Given the description of an element on the screen output the (x, y) to click on. 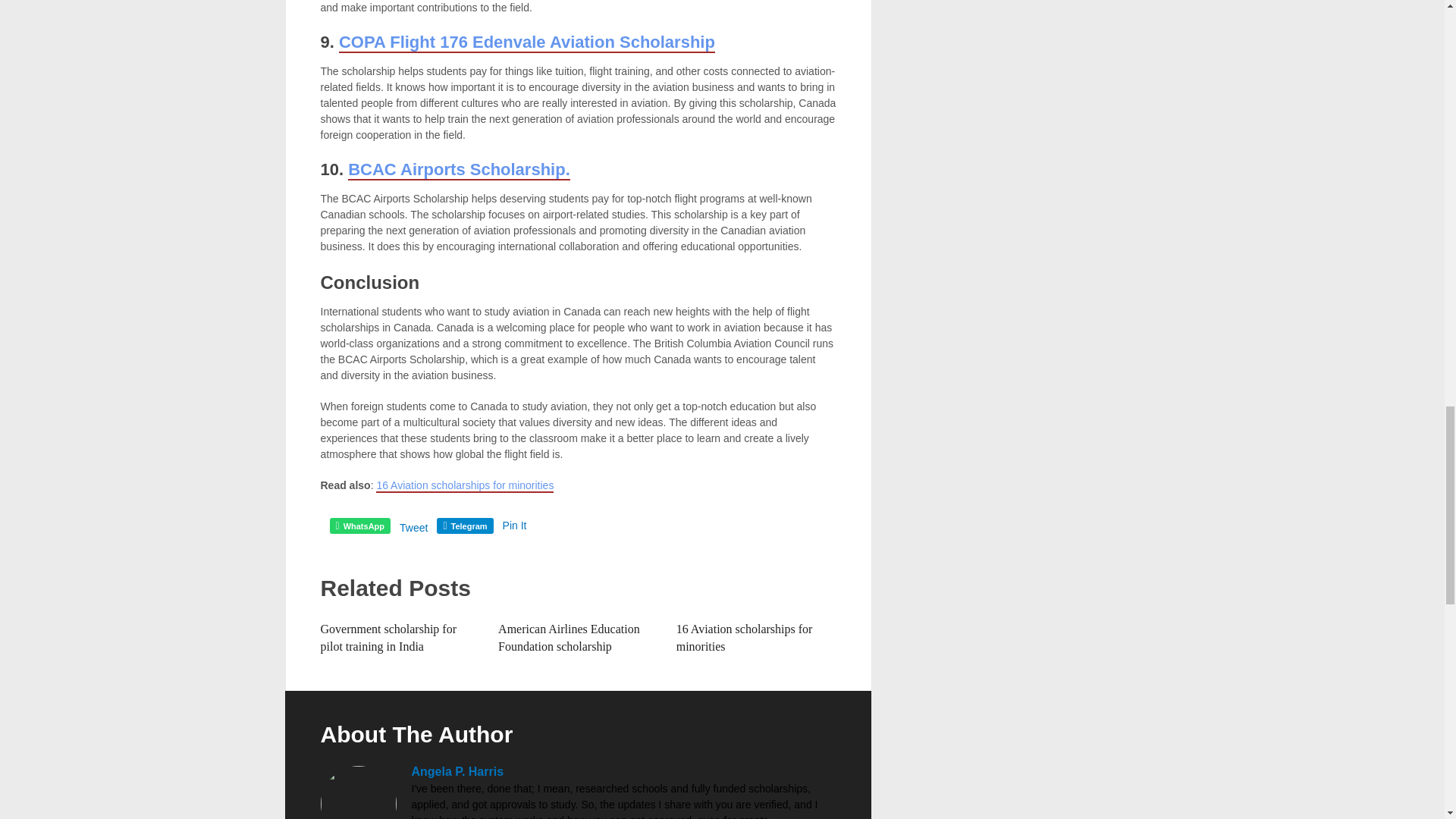
16 Aviation scholarships for minorities (744, 636)
16 Aviation scholarships for minorities (744, 636)
American Airlines Education Foundation scholarship (568, 636)
Government scholarship for pilot training in India (388, 636)
COPA Flight 176 Edenvale Aviation Scholarship (526, 42)
BCAC Airports Scholarship. (458, 169)
Telegram (464, 525)
WhatsApp (359, 525)
Pin It (514, 525)
Government scholarship for pilot training in India (388, 636)
